Given the description of an element on the screen output the (x, y) to click on. 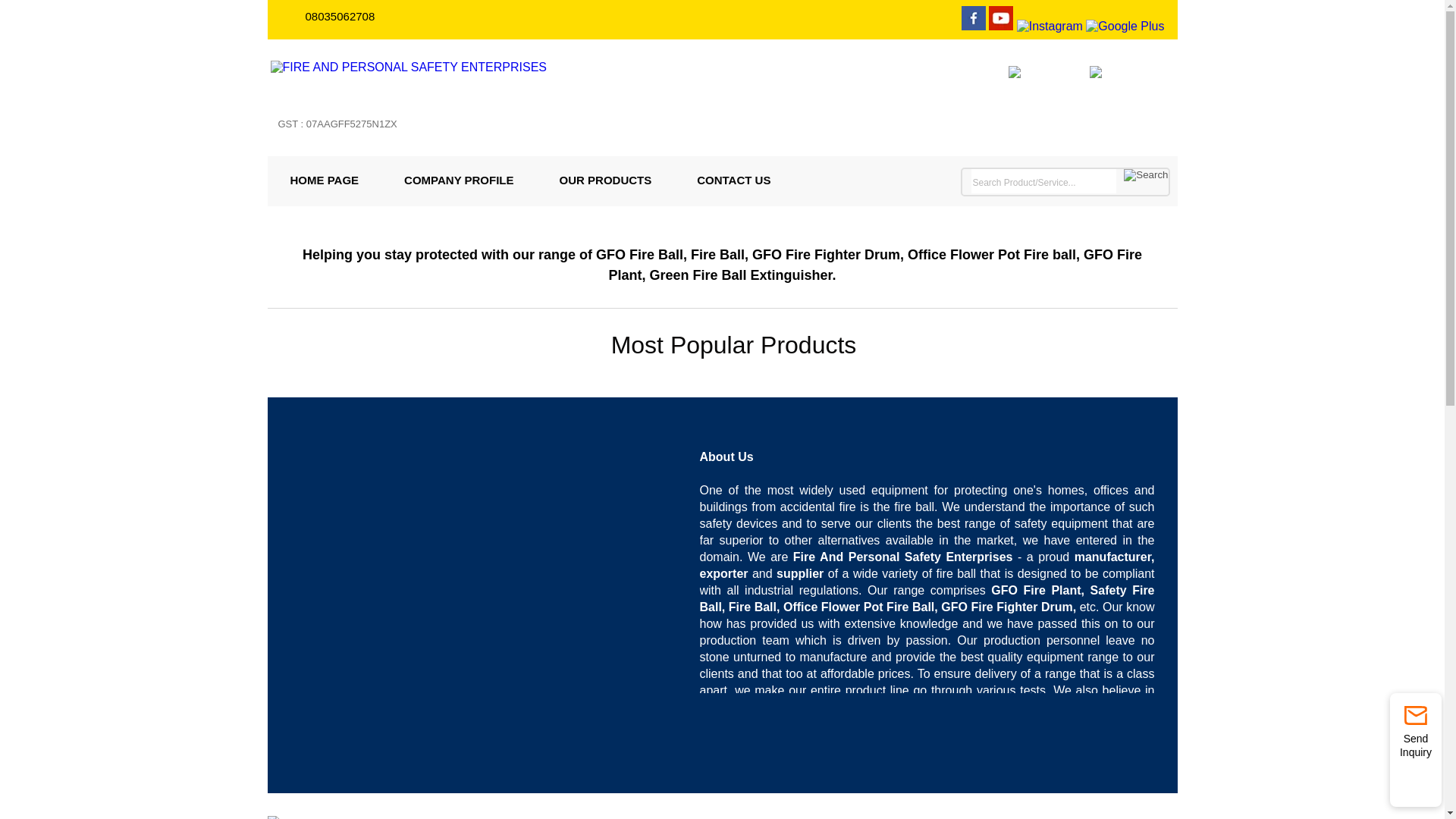
GST : 07AAGFF5275N1ZX (336, 132)
HOME PAGE (323, 179)
submit (1145, 174)
You Tube (1000, 25)
Facebook (972, 25)
submit (1145, 174)
Instagram (1049, 25)
CONTACT US (733, 179)
OUR PRODUCTS (606, 179)
COMPANY PROFILE (458, 179)
